Given the description of an element on the screen output the (x, y) to click on. 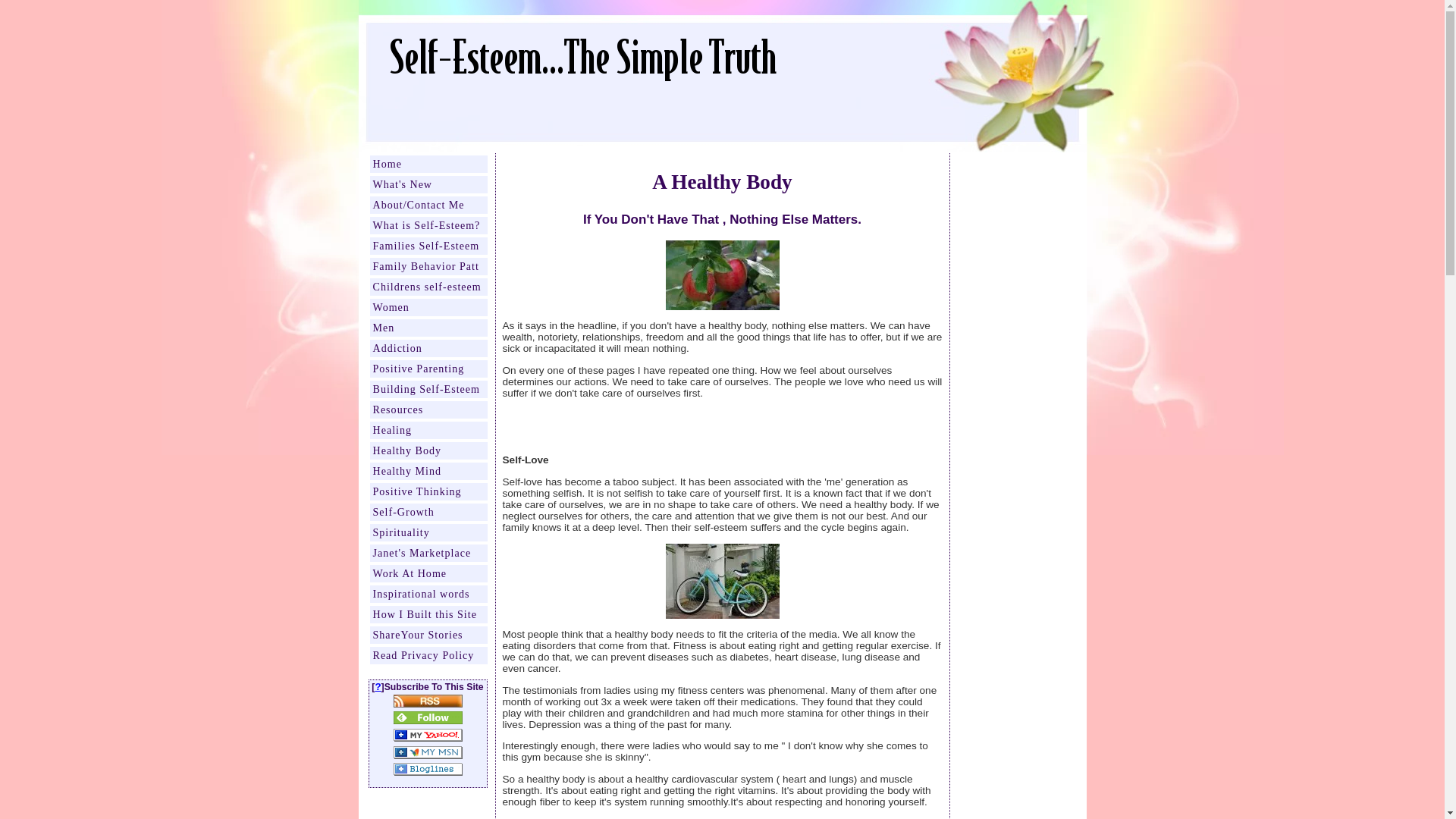
What's New (428, 184)
Healthy Body (428, 450)
Addiction (428, 348)
Healing (428, 429)
Women (428, 307)
Home (428, 163)
Read Privacy Policy (428, 655)
Spirituality (428, 532)
Self-Growth (428, 511)
Janet's Marketplace (428, 552)
How I Built this Site (428, 614)
Building Self-Esteem (428, 389)
Work At Home (428, 573)
Childrens self-esteem (428, 286)
Resources (428, 409)
